Given the description of an element on the screen output the (x, y) to click on. 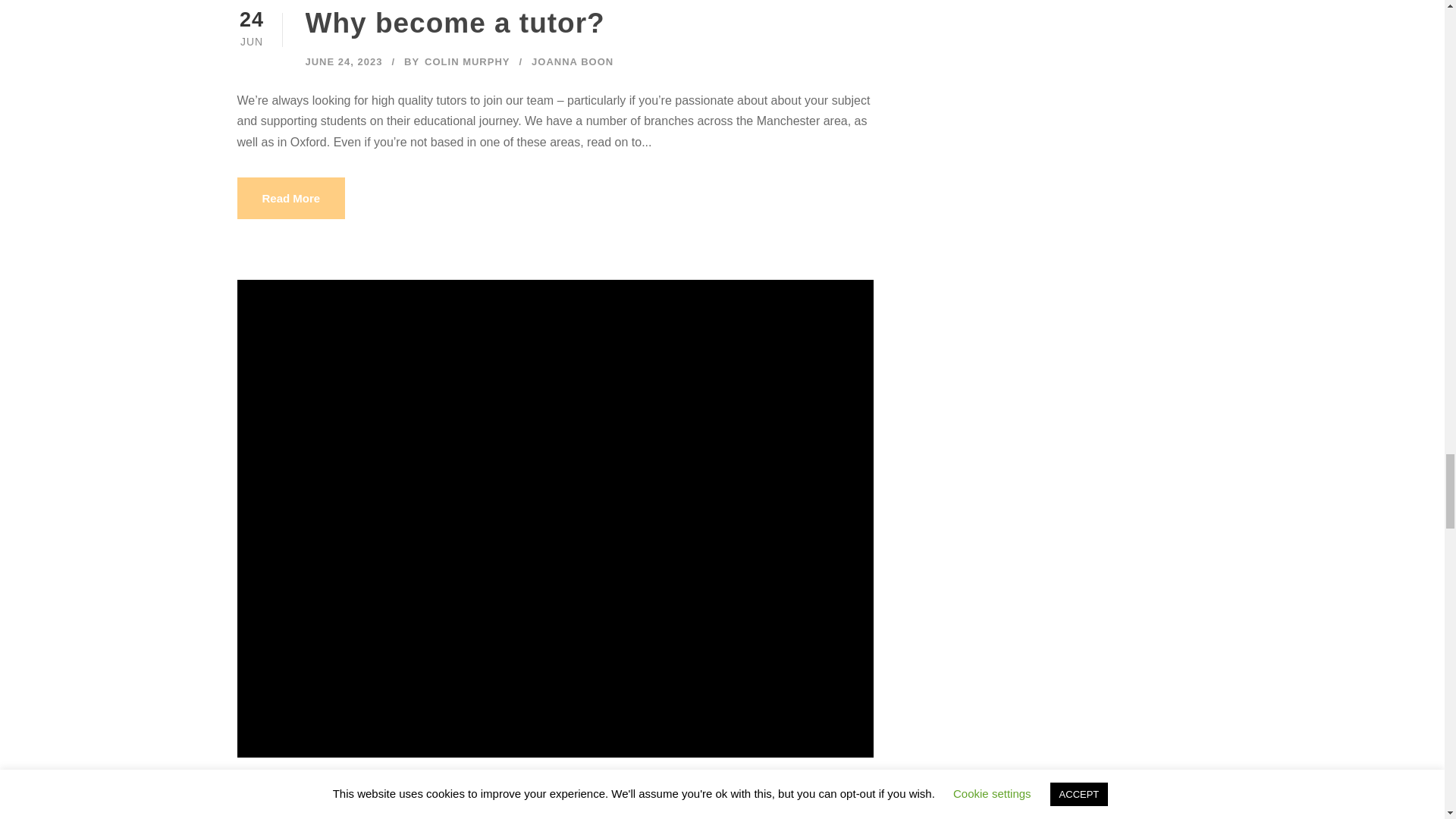
Posts by Colin Murphy (467, 61)
